Given the description of an element on the screen output the (x, y) to click on. 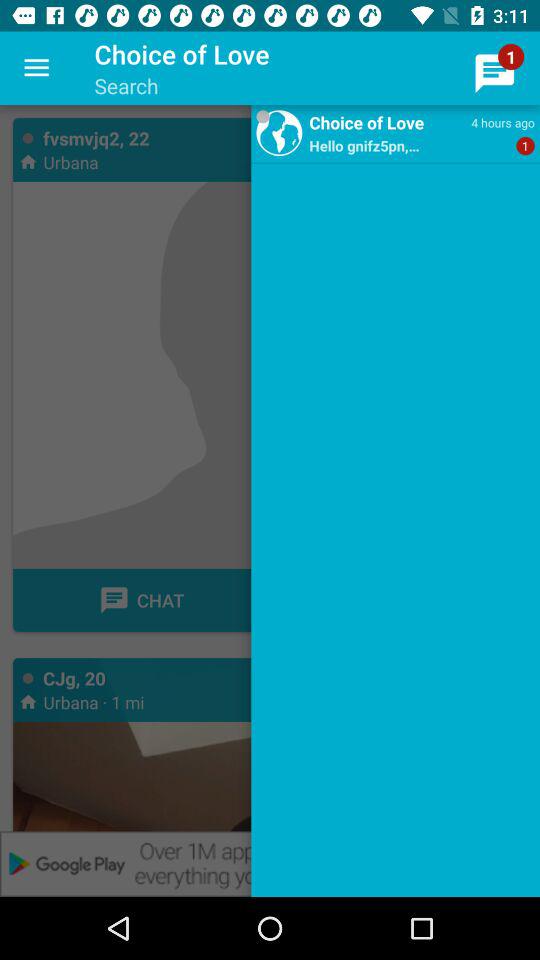
click on the dot option before fvsmvjq222 text (27, 137)
select icon which is at the top right of the page (494, 73)
click the icon beside urbana (27, 161)
select a chat button on a page (141, 600)
select the chat button on page (141, 600)
click on first home icon at left side (27, 161)
